Given the description of an element on the screen output the (x, y) to click on. 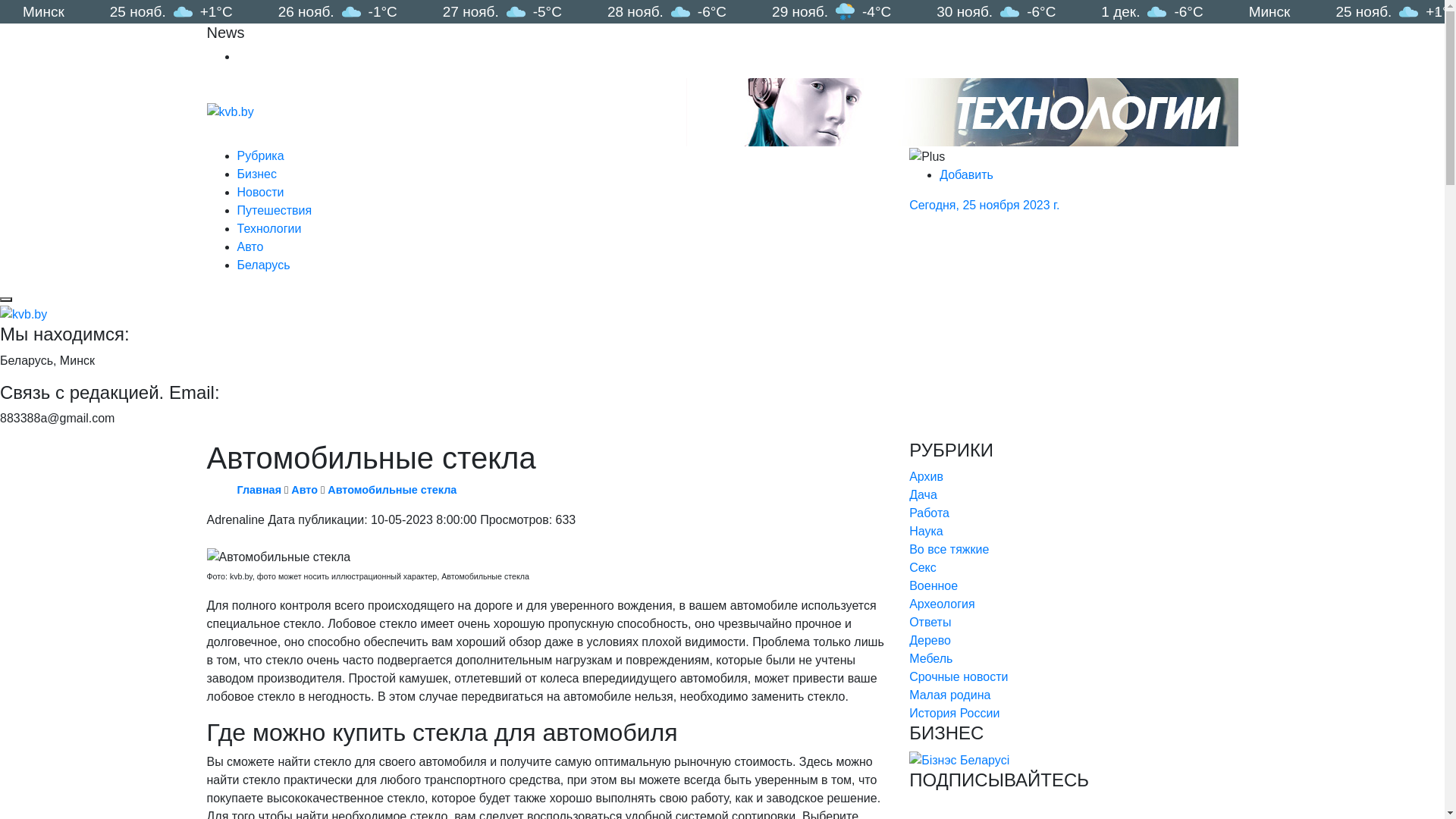
Adrenaline Element type: text (235, 519)
kvb.by Element type: hover (229, 112)
kvb.by Element type: hover (23, 314)
